Given the description of an element on the screen output the (x, y) to click on. 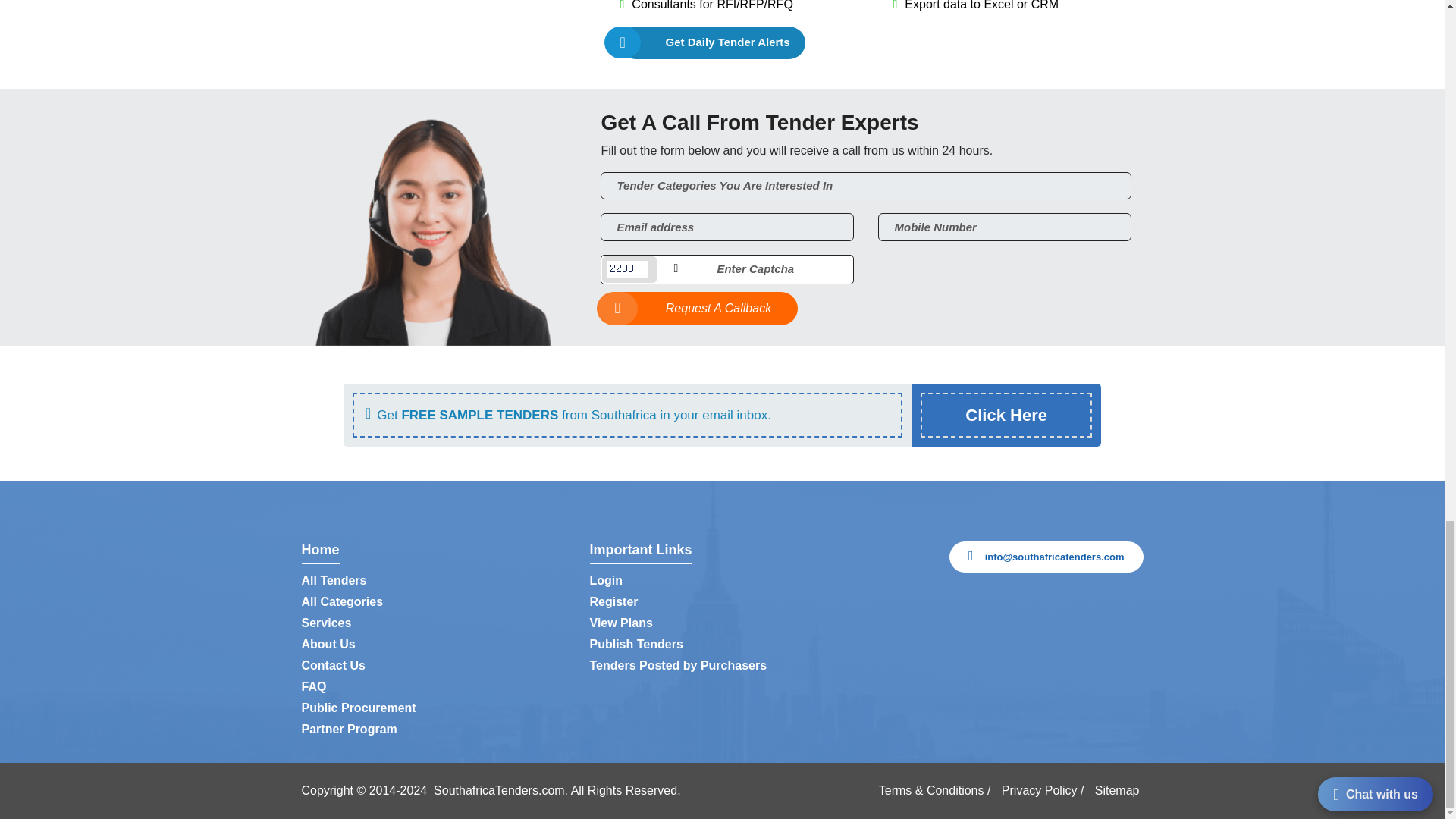
All Tenders (333, 580)
Request A Callback (698, 308)
All Categories (342, 601)
Click Here (1006, 415)
Get Daily Tender Alerts (712, 42)
